Given the description of an element on the screen output the (x, y) to click on. 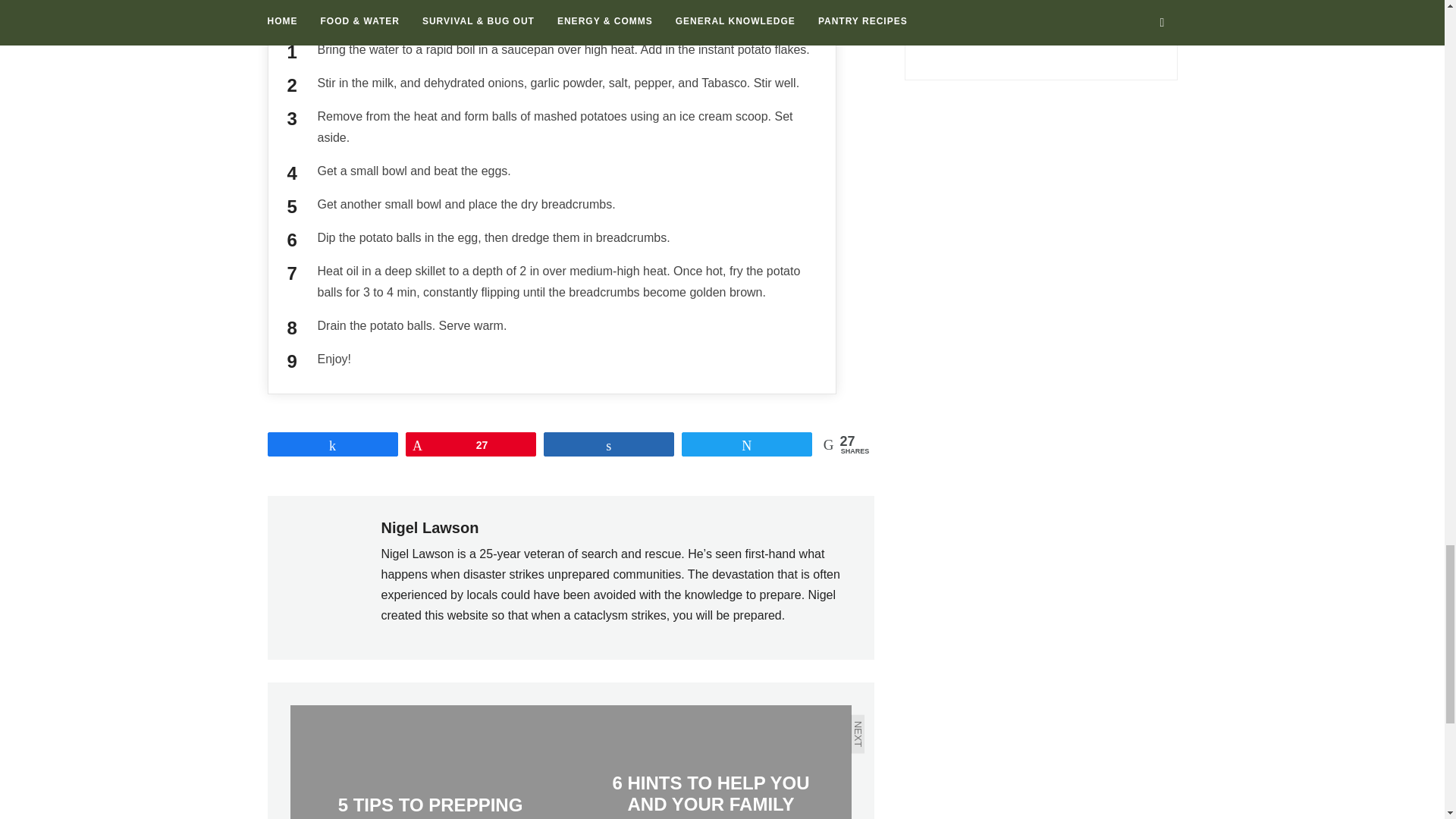
5 TIPS TO PREPPING BASICS (429, 762)
Nigel Lawson (429, 527)
6 HINTS TO HELP YOU AND YOUR FAMILY SURVIVE EXTREME WEATHER (710, 762)
5 Tips to Prepping Basics (429, 762)
Posts by Nigel Lawson (429, 527)
27 (470, 444)
6 Hints to Help You and Your Family Survive Extreme Weather (710, 762)
